Given the description of an element on the screen output the (x, y) to click on. 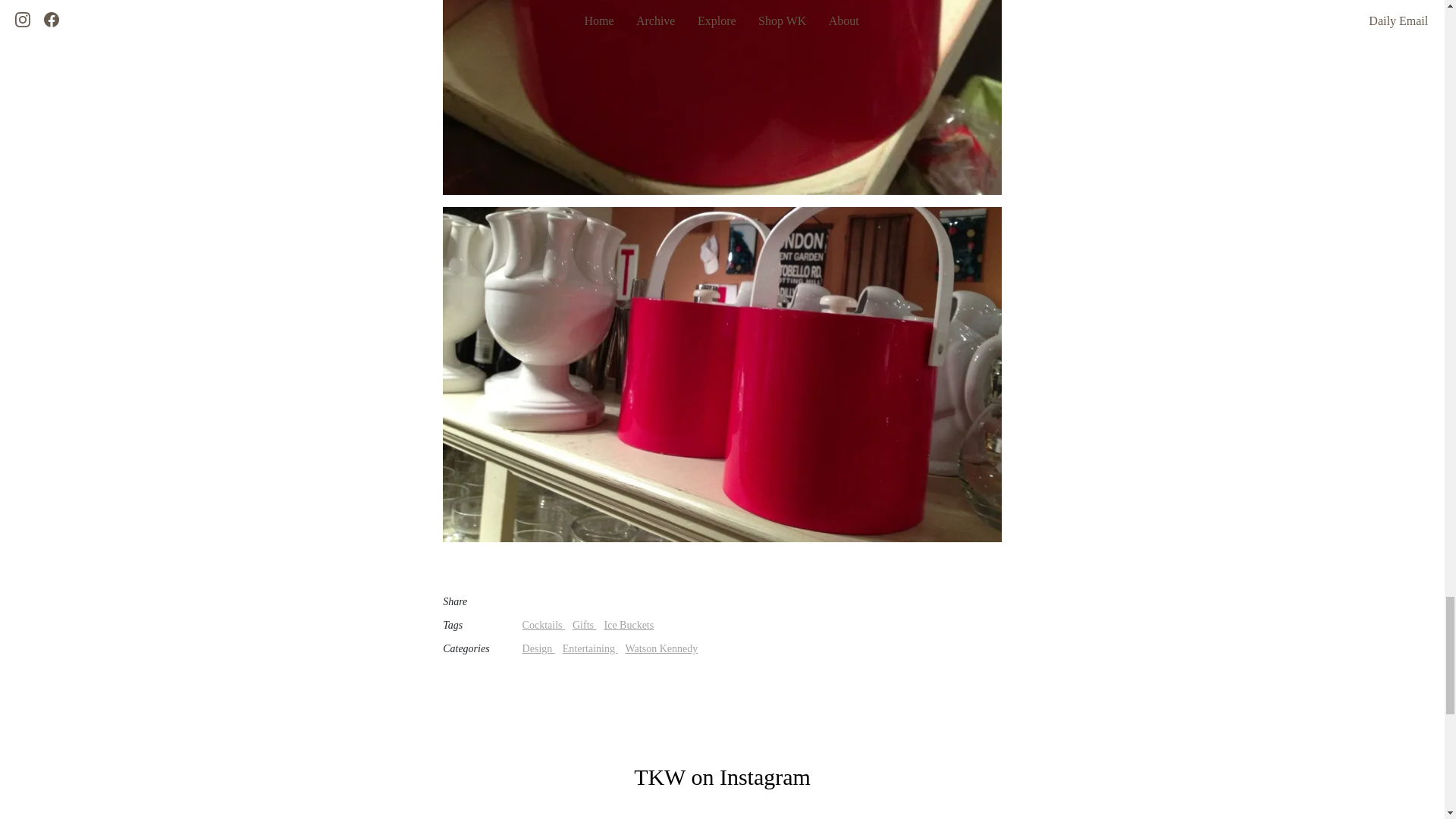
Design (538, 648)
TKW on Instagram (722, 777)
Entertaining (589, 648)
Watson Kennedy (660, 648)
Gifts (584, 624)
Cocktails (543, 624)
Ice Buckets (628, 624)
